Given the description of an element on the screen output the (x, y) to click on. 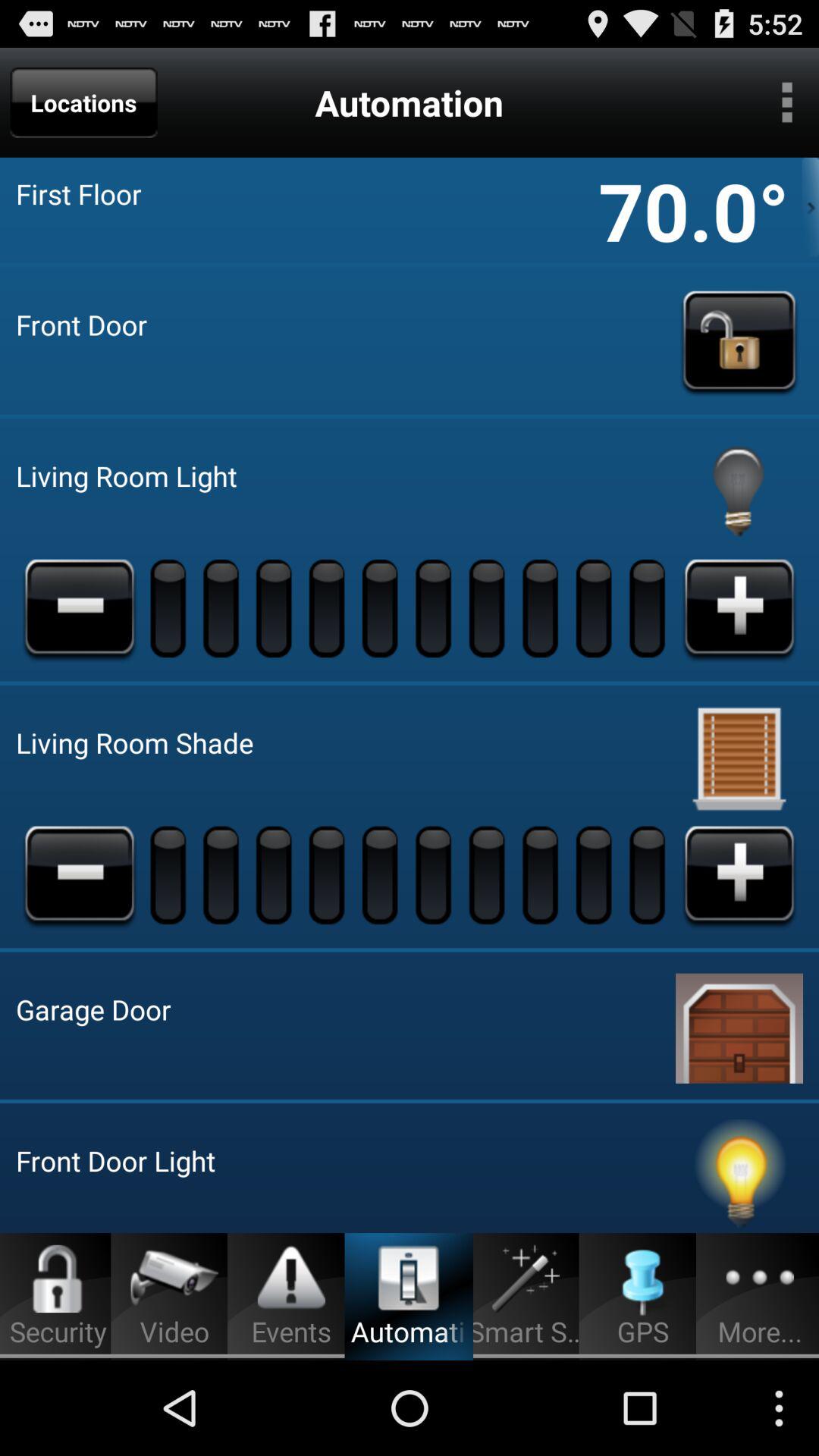
select shade (739, 758)
